Given the description of an element on the screen output the (x, y) to click on. 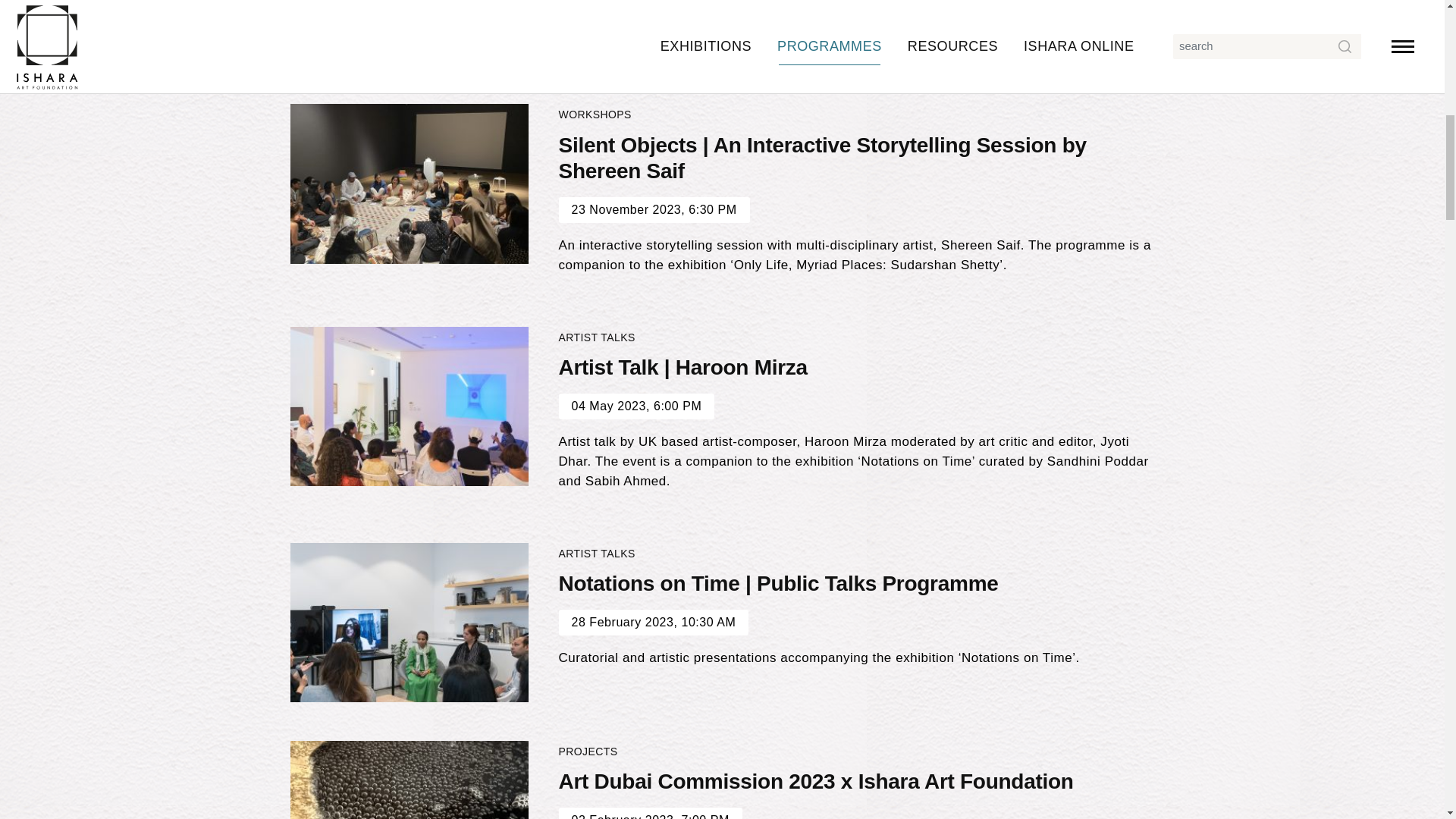
ARTIST TALKS (595, 337)
WORKSHOPS (593, 114)
